Given the description of an element on the screen output the (x, y) to click on. 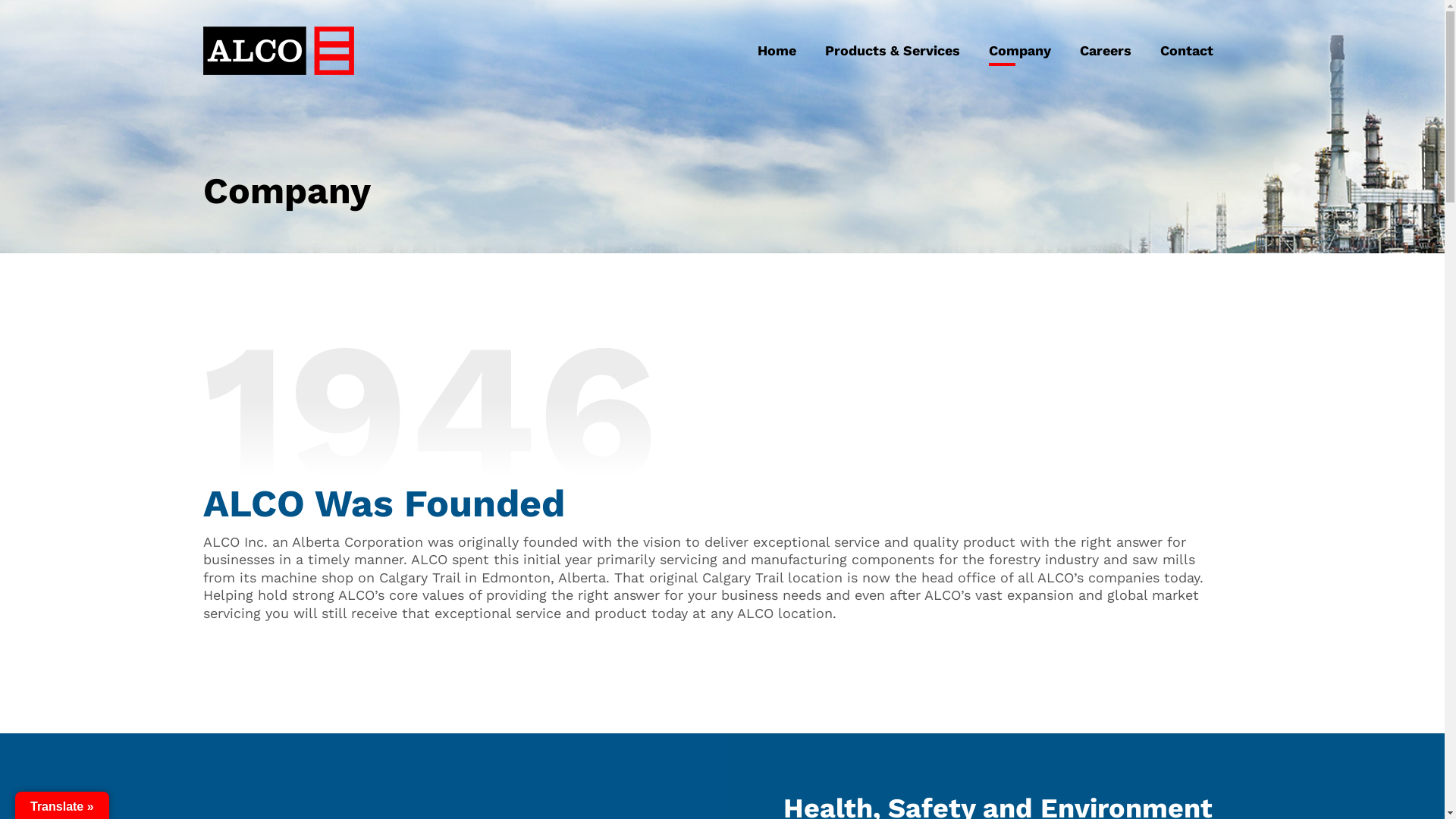
Company Element type: text (1019, 50)
Home Element type: text (776, 50)
Careers Element type: text (1104, 50)
Contact Element type: text (1185, 50)
Products & Services Element type: text (891, 50)
